Given the description of an element on the screen output the (x, y) to click on. 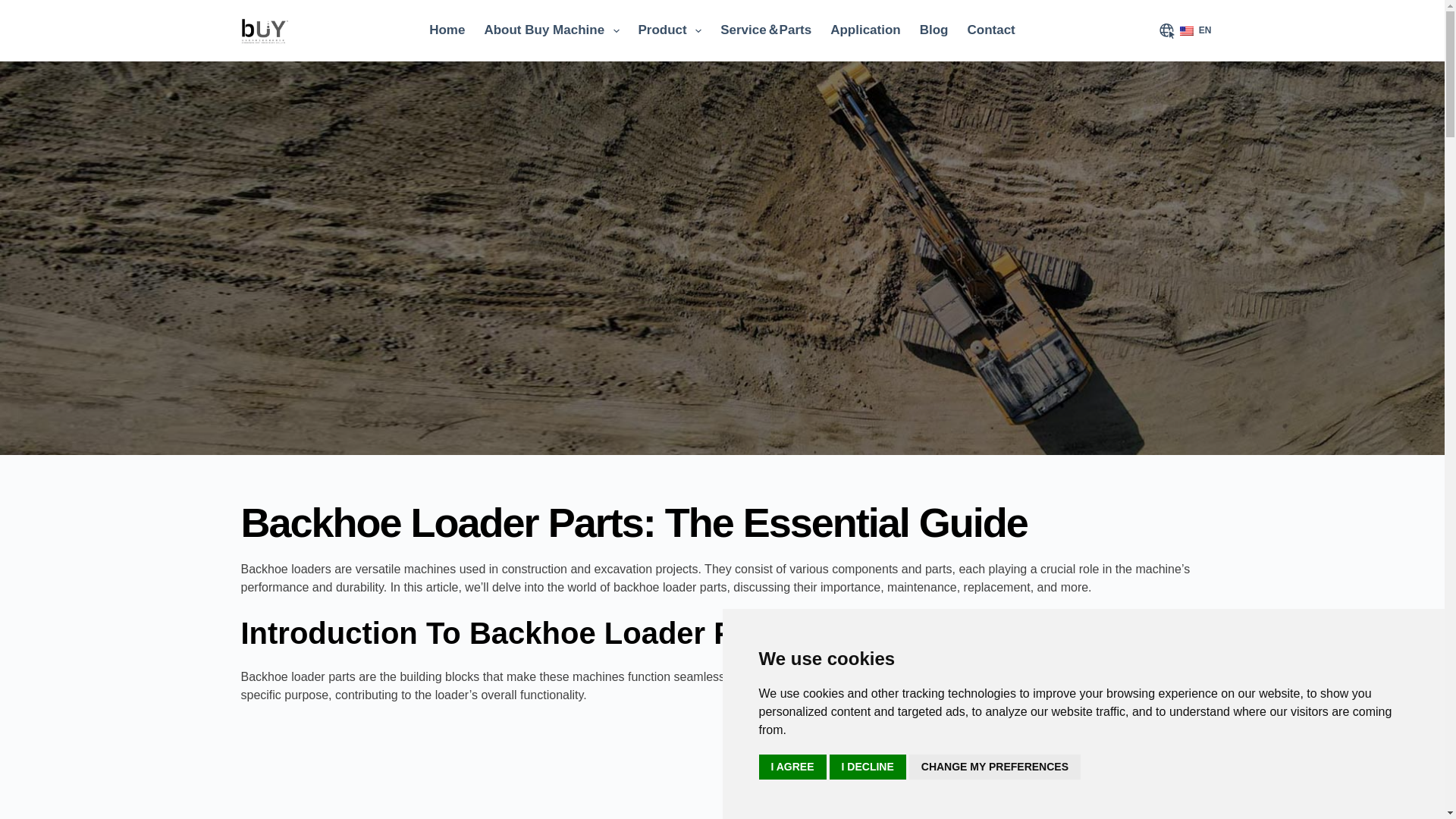
Skip to content (15, 7)
English (1186, 30)
I DECLINE (867, 766)
CHANGE MY PREFERENCES (994, 766)
I AGREE (791, 766)
